Given the description of an element on the screen output the (x, y) to click on. 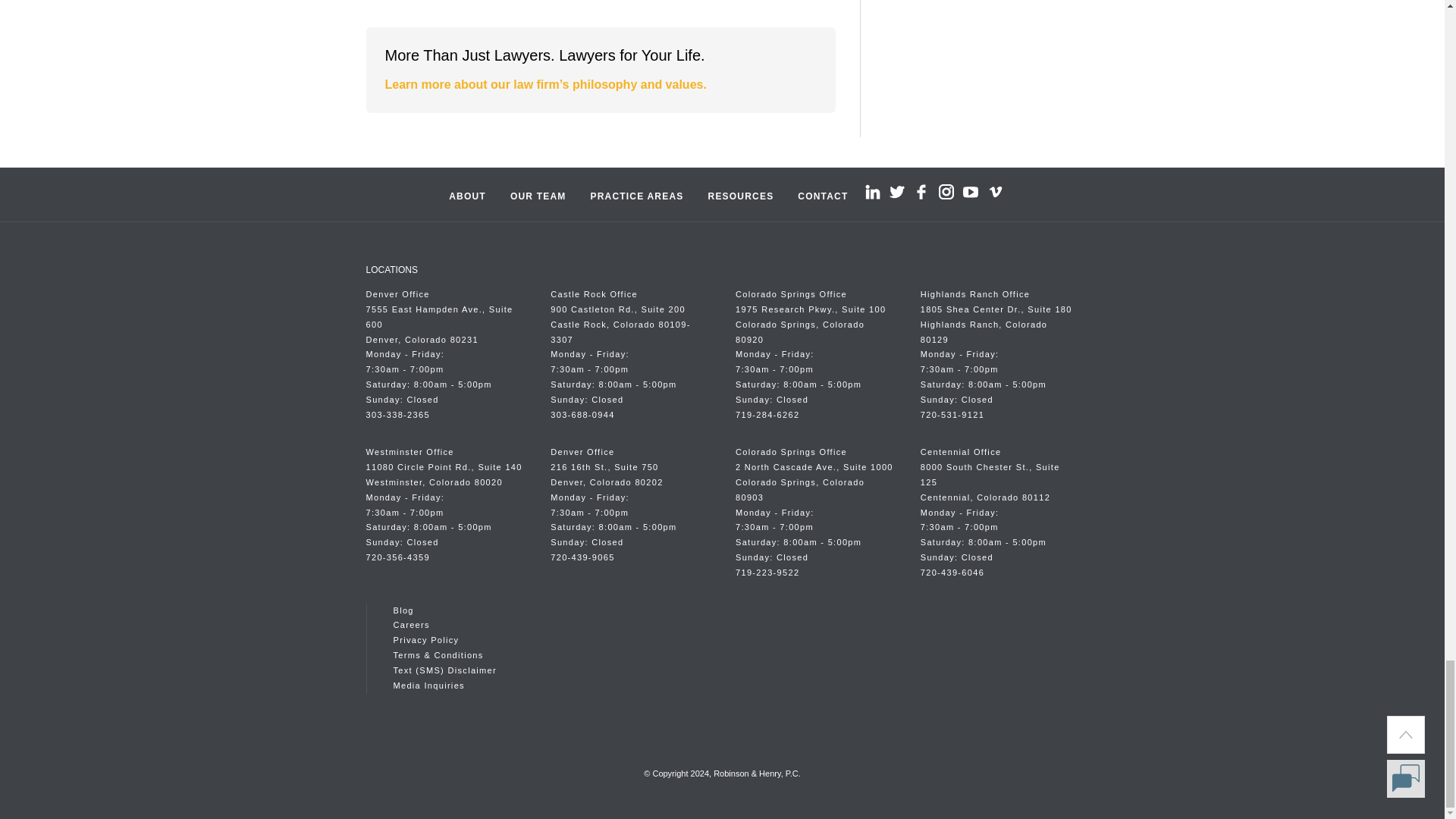
CONTACT (823, 194)
RESOURCES (740, 194)
OUR TEAM (537, 194)
ABOUT (466, 194)
PRACTICE AREAS (636, 194)
